Given the description of an element on the screen output the (x, y) to click on. 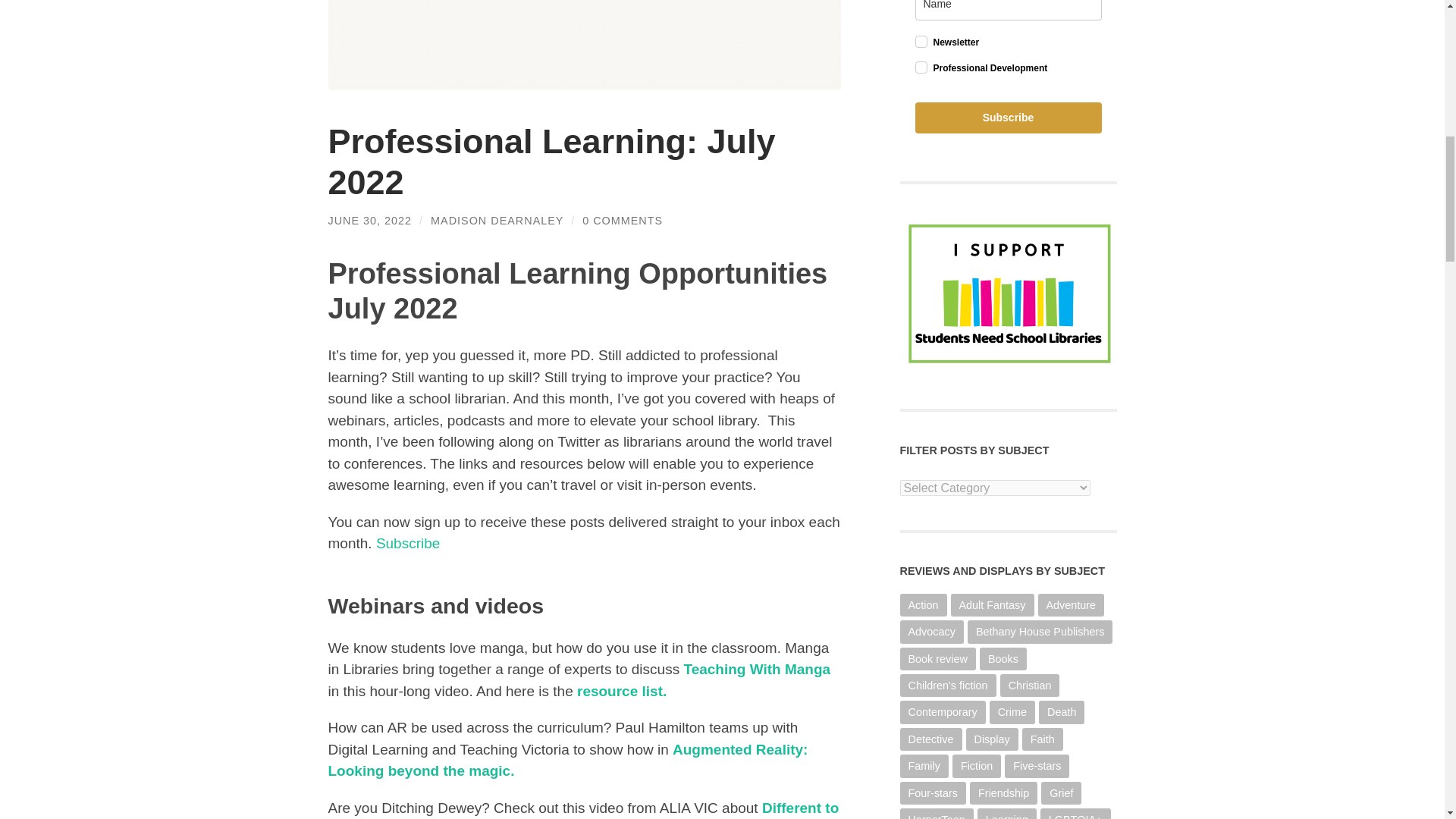
Posts by Madison Dearnaley (496, 220)
